Given the description of an element on the screen output the (x, y) to click on. 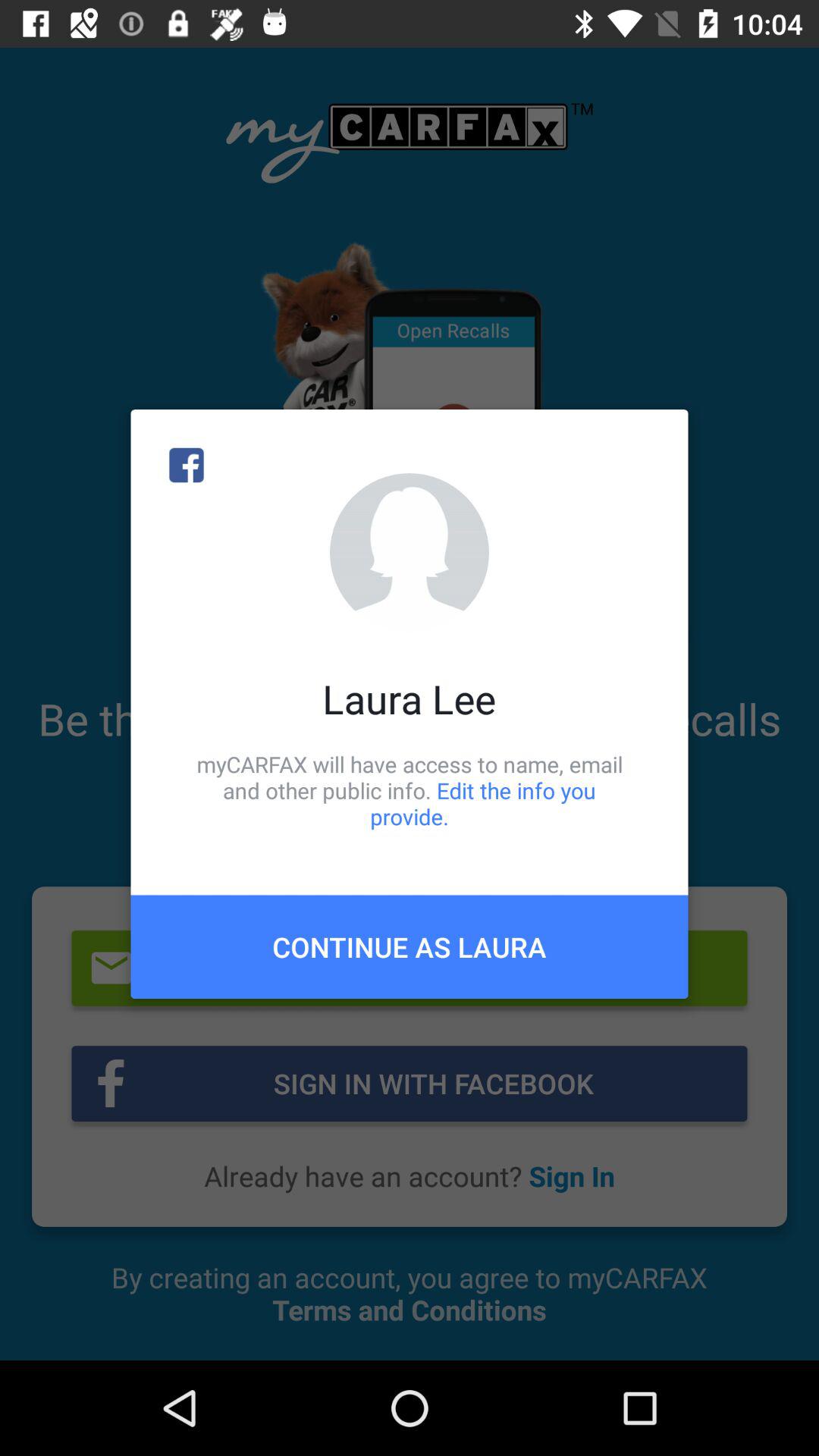
click mycarfax will have icon (409, 790)
